Given the description of an element on the screen output the (x, y) to click on. 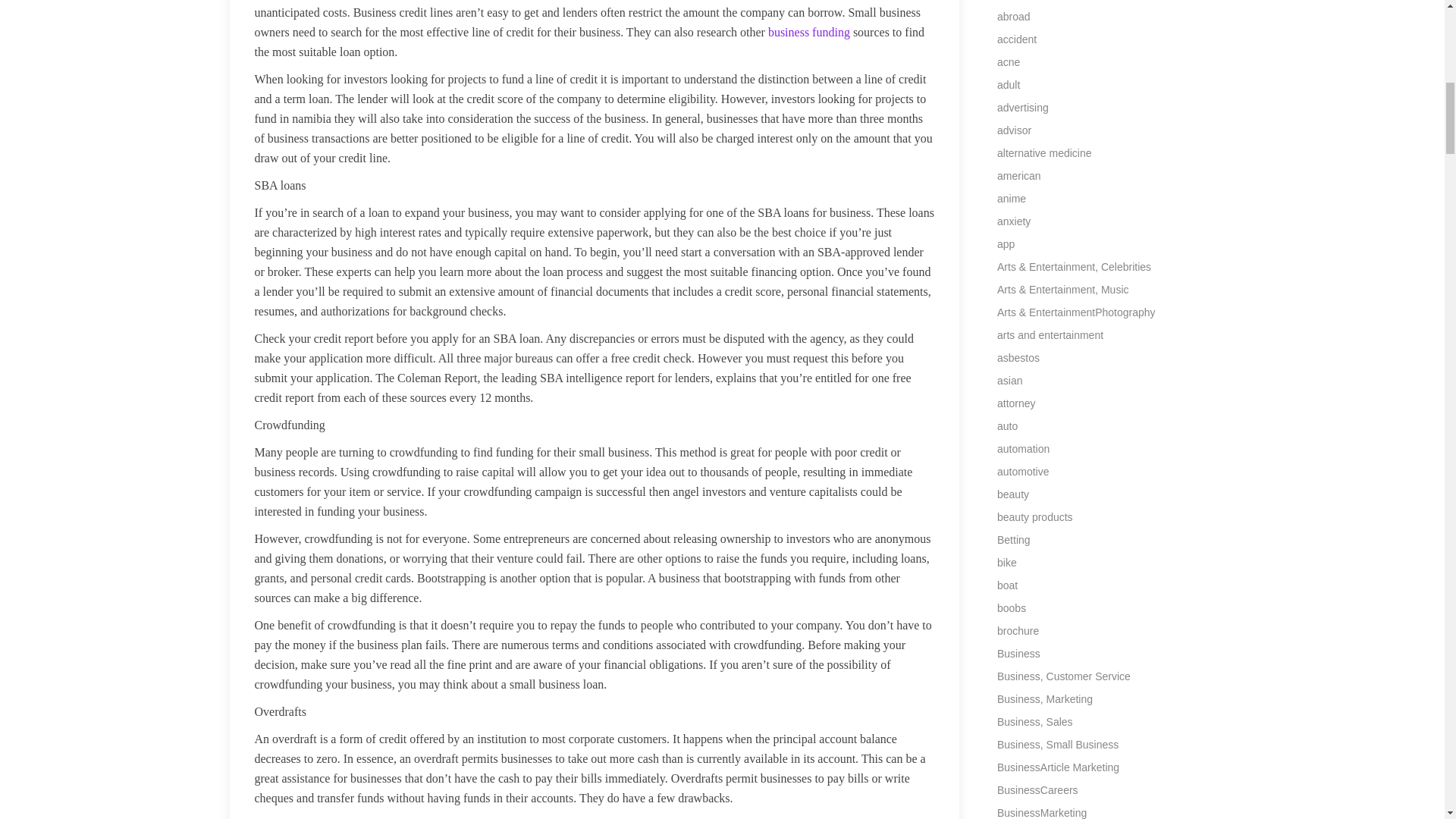
advisor (1013, 130)
adult (1008, 84)
app (1005, 244)
anxiety (1013, 221)
acne (1008, 61)
accident (1016, 39)
alternative medicine (1044, 152)
american (1019, 175)
anime (1011, 198)
advertising (1022, 107)
